Given the description of an element on the screen output the (x, y) to click on. 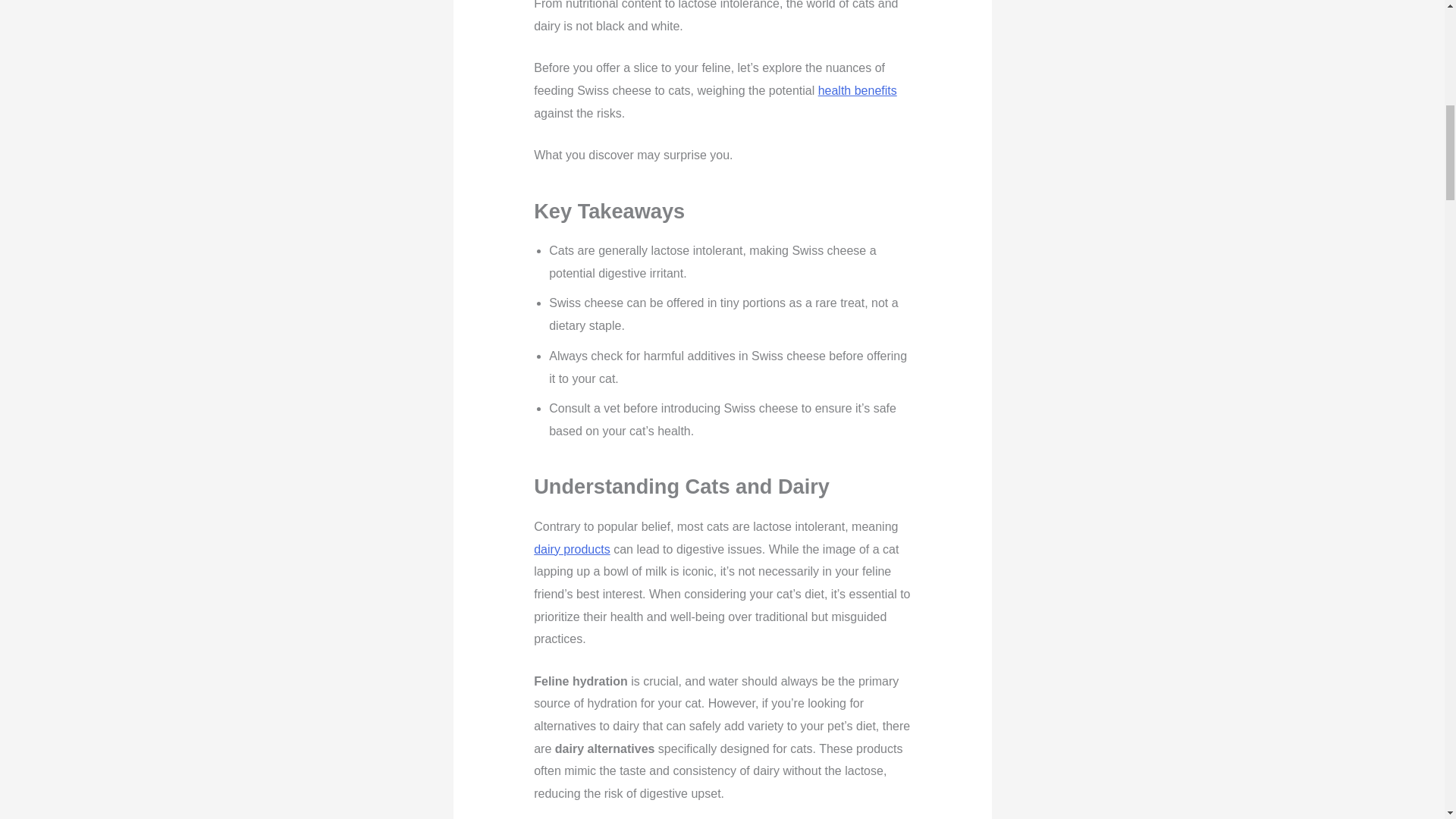
health benefits (857, 90)
dairy products (572, 549)
dairy products (572, 549)
health benefits (857, 90)
